Given the description of an element on the screen output the (x, y) to click on. 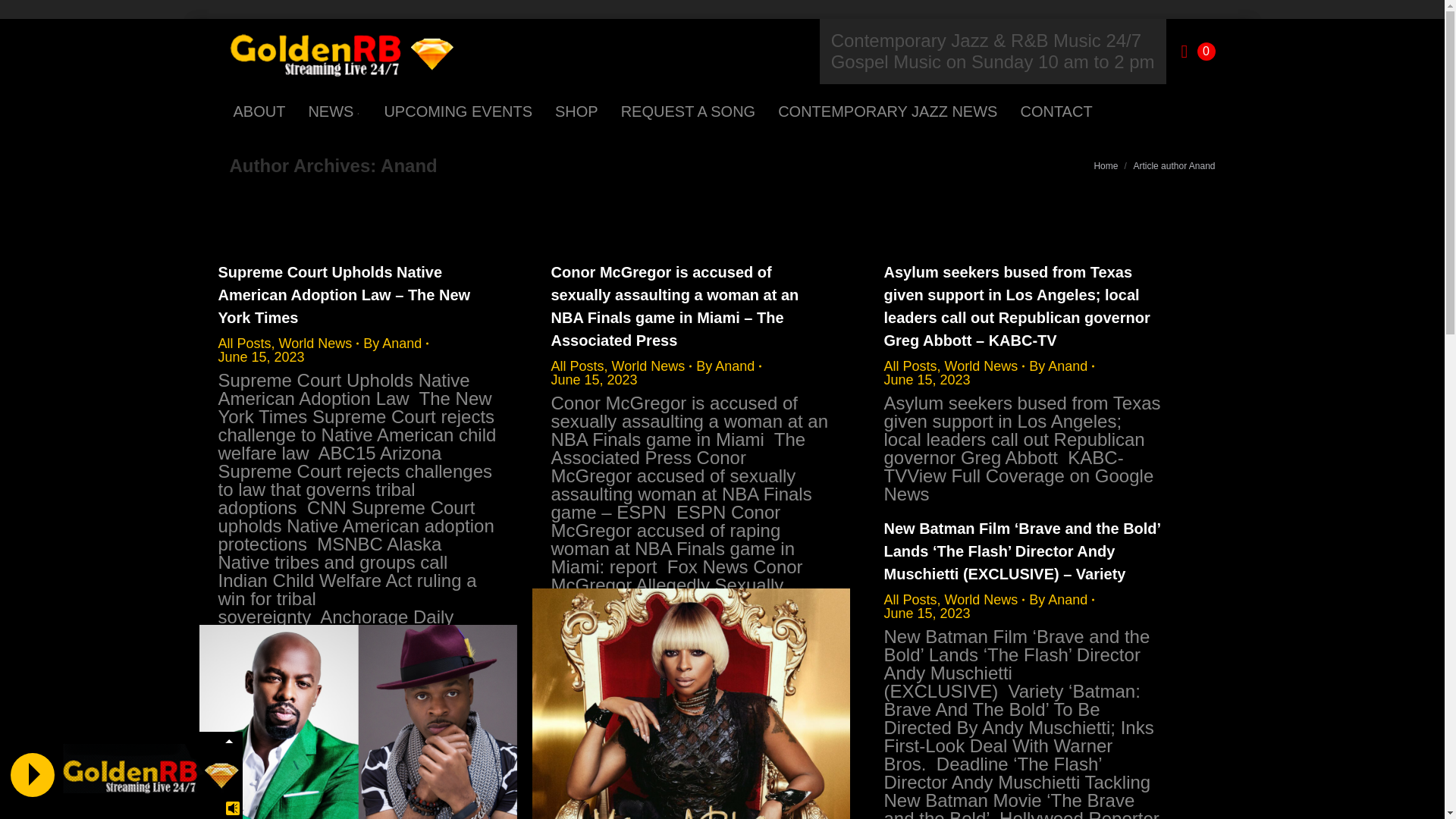
Anand (409, 165)
REQUEST A SONG (687, 111)
View all posts by Anand (728, 366)
 0 (1197, 51)
CONTACT (1056, 111)
View all posts by Anand (1061, 366)
ABOUT (258, 111)
10:31 pm (927, 612)
View all posts by Anand (395, 343)
SHOP (576, 111)
